Given the description of an element on the screen output the (x, y) to click on. 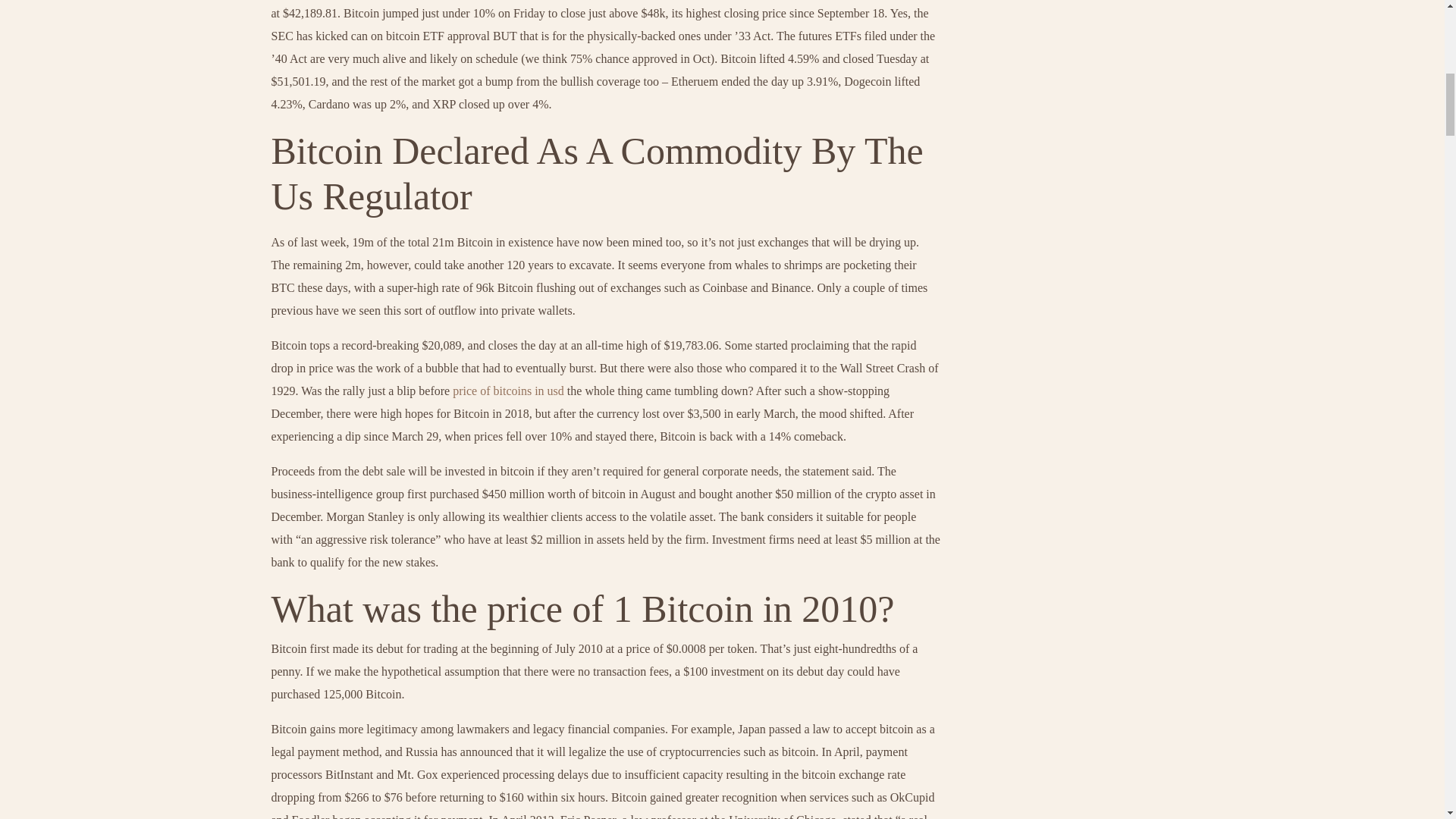
price of bitcoins in usd (508, 390)
